Given the description of an element on the screen output the (x, y) to click on. 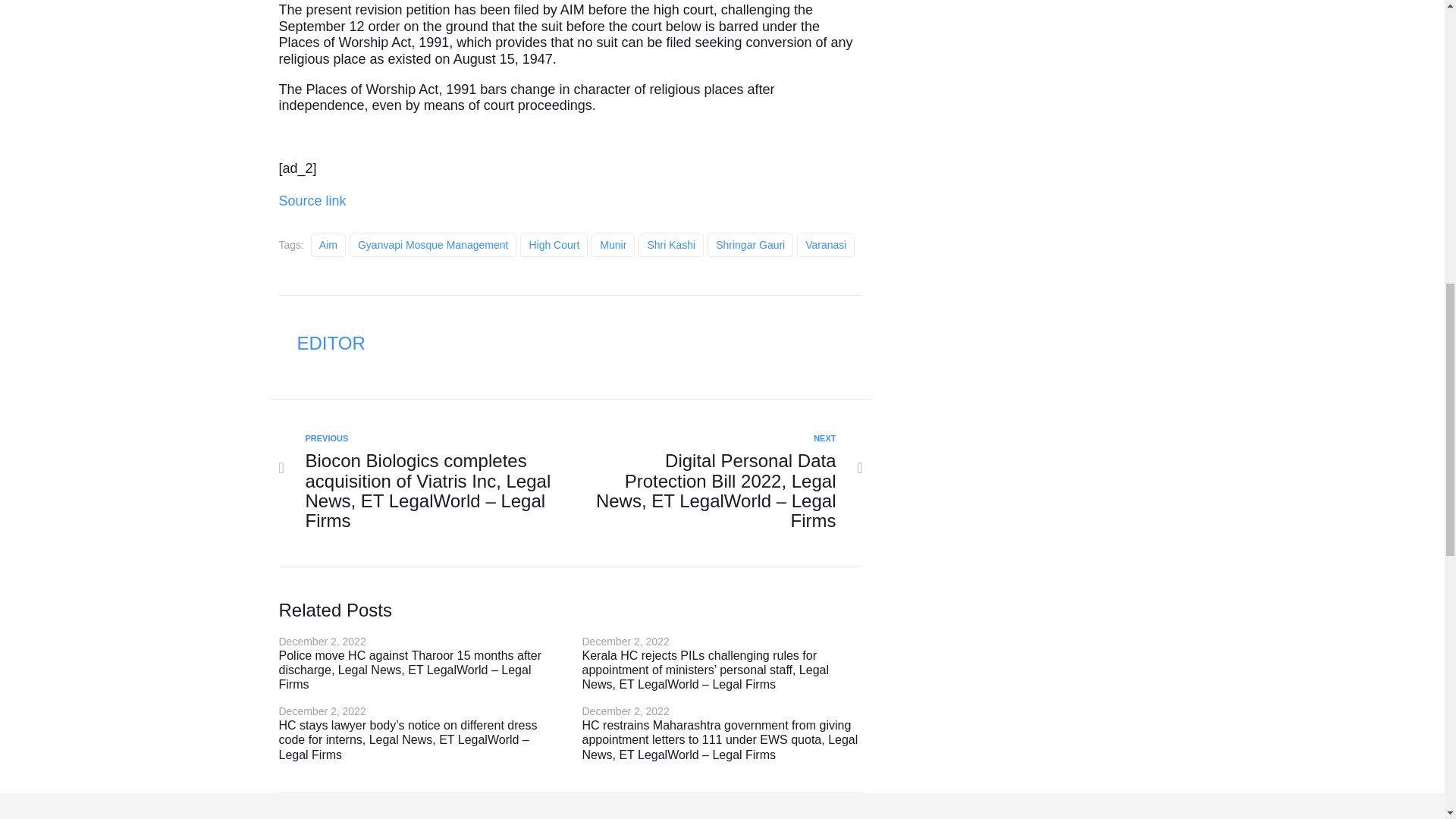
Shringar Gauri (750, 245)
EDITOR (331, 342)
Aim (328, 245)
Varanasi (825, 245)
Shri Kashi (671, 245)
Munir (612, 245)
Source link (312, 200)
High Court (553, 245)
Gyanvapi Mosque Management (432, 245)
